Given the description of an element on the screen output the (x, y) to click on. 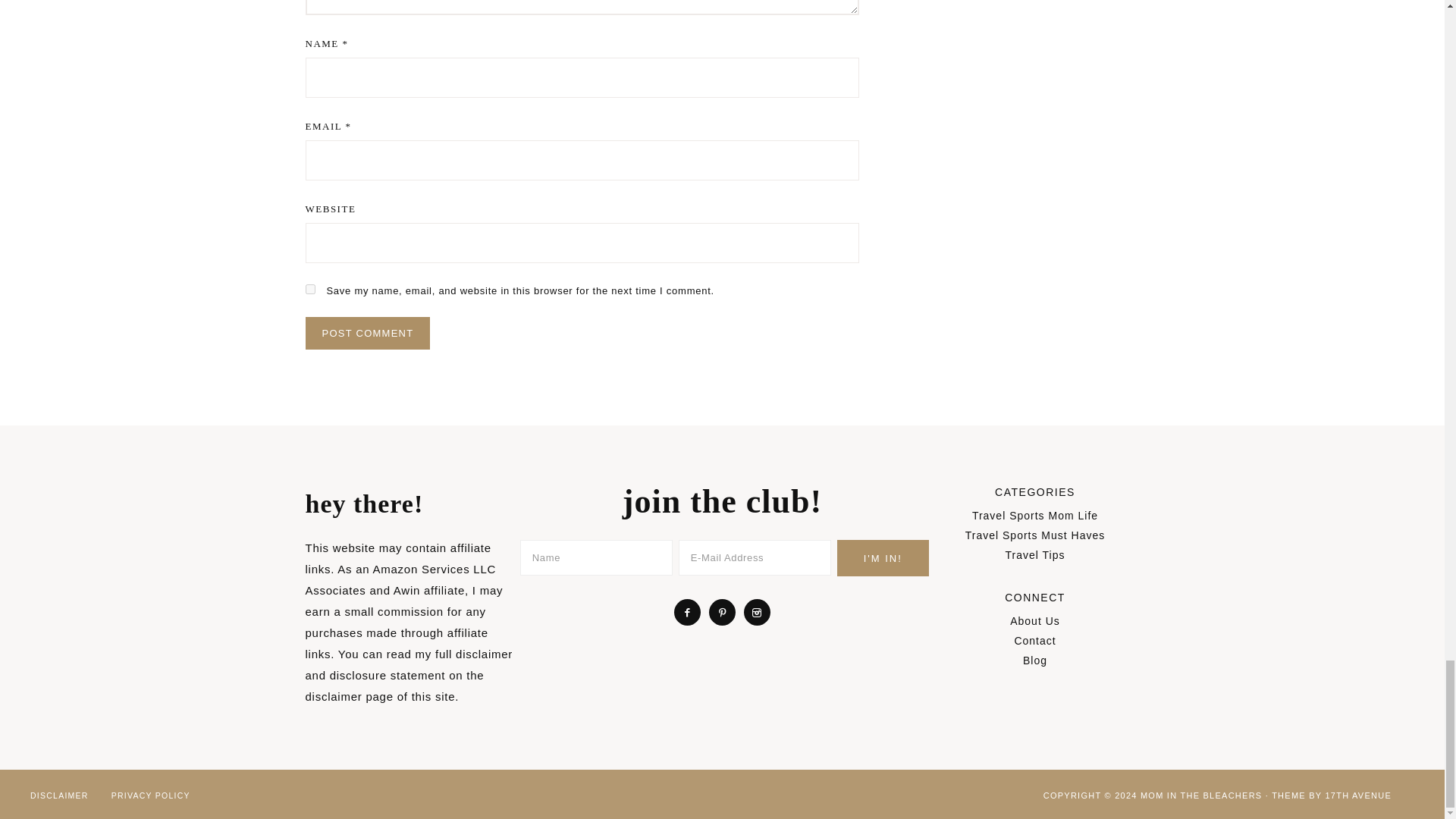
yes (309, 289)
Post Comment (366, 332)
I'm in! (882, 557)
